Given the description of an element on the screen output the (x, y) to click on. 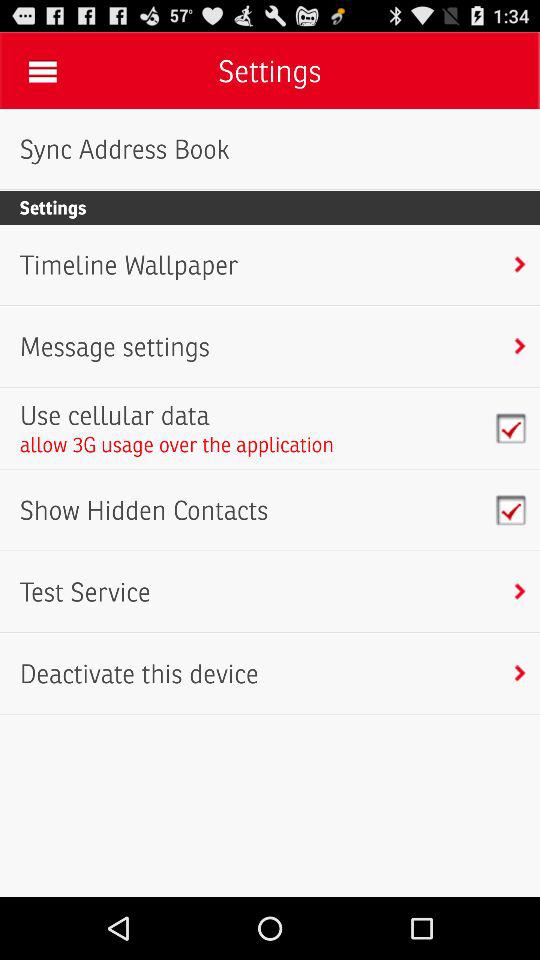
select the app below the settings app (128, 265)
